Given the description of an element on the screen output the (x, y) to click on. 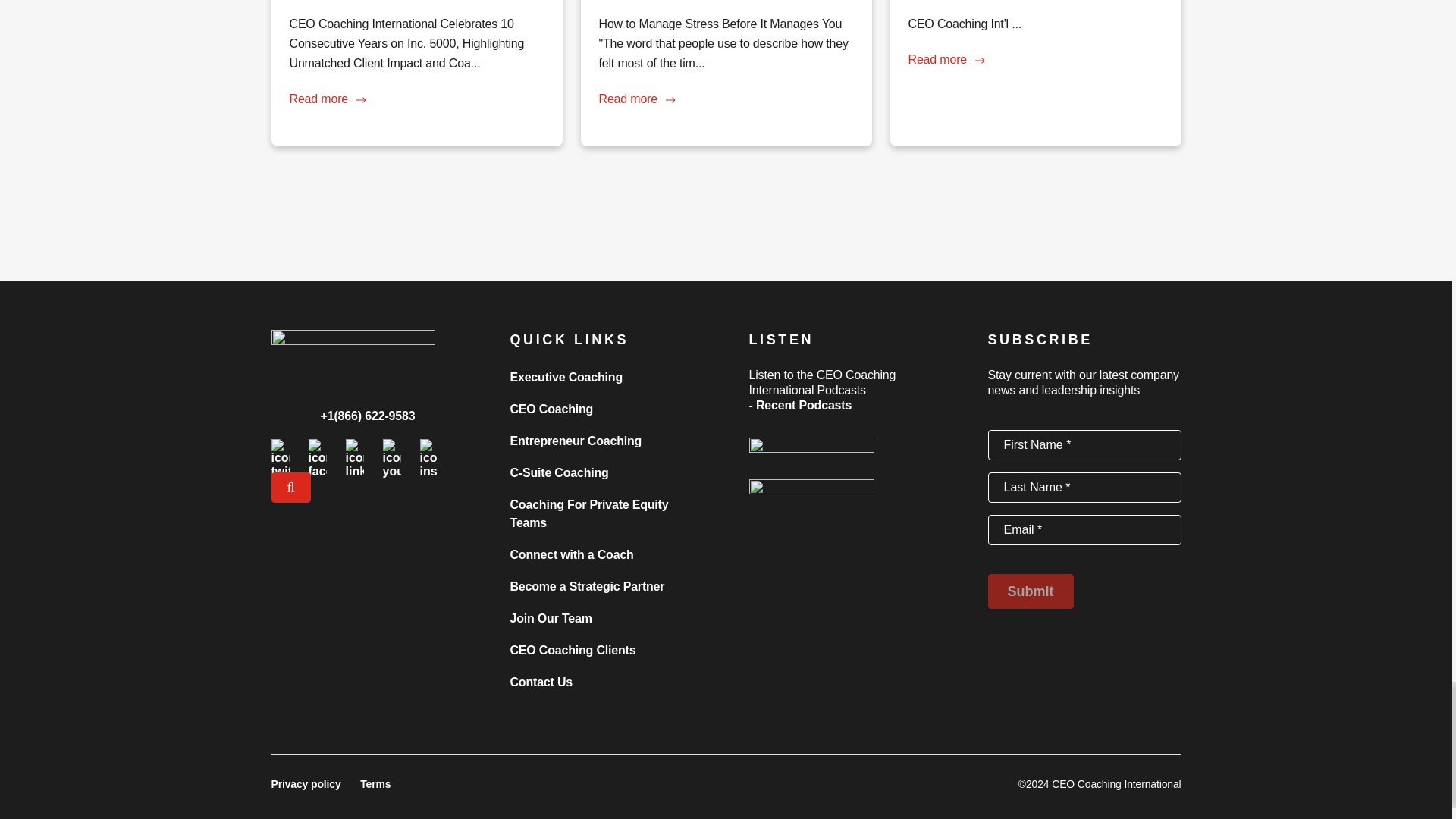
Become a Strategic Partner (586, 585)
C-Suite Coaching (558, 472)
CEO Coaching (550, 408)
Terms (375, 783)
Submit (1030, 591)
Join Our Team (550, 617)
Executive Coaching (565, 377)
Entrepreneur Coaching (575, 440)
Contact Us (540, 681)
Coaching For Private Equity Teams (588, 513)
